Given the description of an element on the screen output the (x, y) to click on. 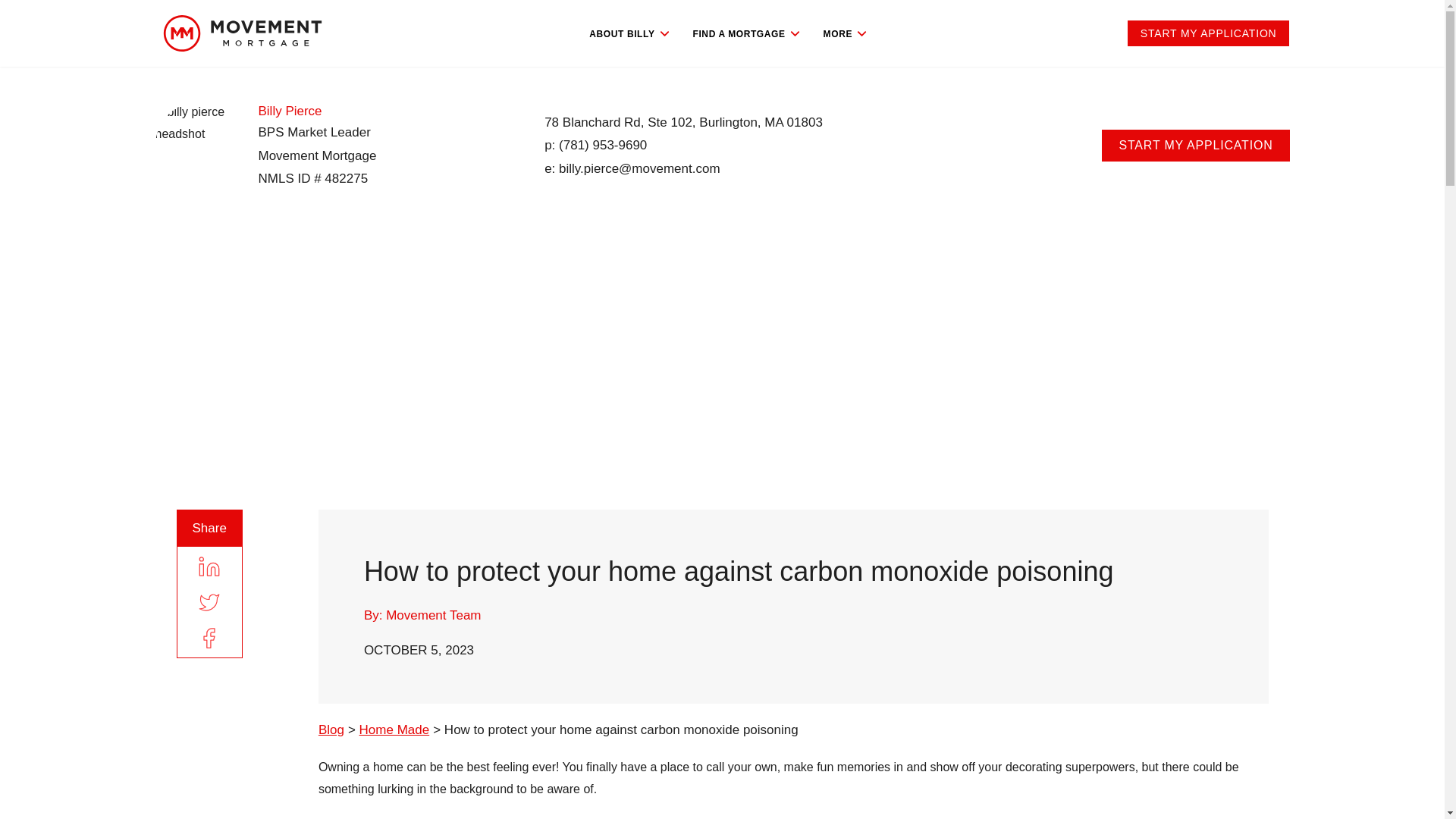
MORE (844, 33)
Movement Mortgage Logo (241, 32)
FIND A MORTGAGE (746, 33)
ABOUT BILLY (629, 33)
